Given the description of an element on the screen output the (x, y) to click on. 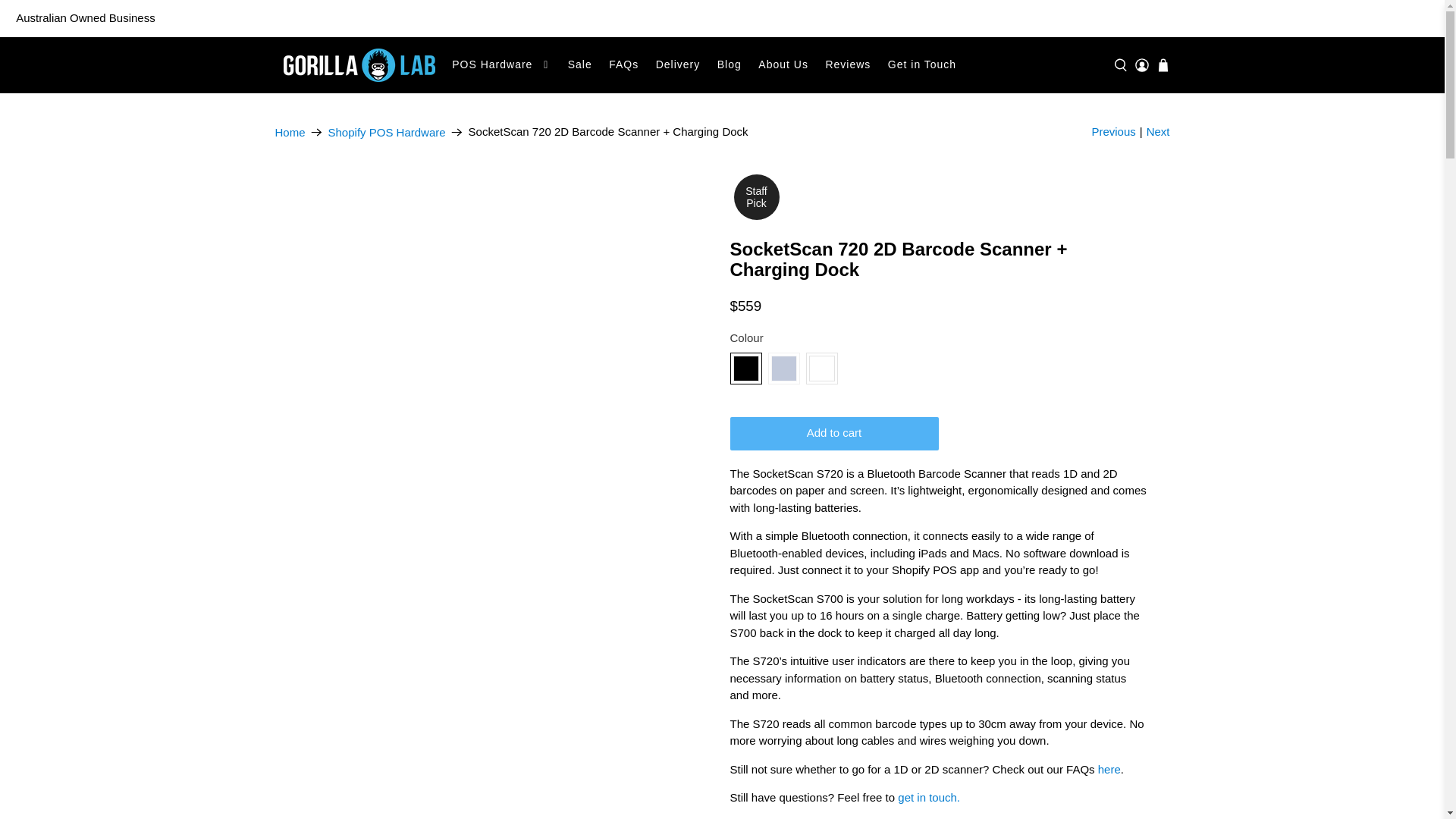
Home (289, 131)
Shopify POS Hardware (387, 131)
Delivery (676, 64)
Next (1158, 131)
Next (1158, 131)
POS Hardware (501, 64)
Previous (1112, 131)
FAQs (623, 64)
Previous (1112, 131)
Blog (730, 64)
About Us (782, 64)
Shopify POS Hardware (387, 131)
Reviews (847, 64)
Sale (579, 64)
Get in Touch (922, 64)
